Given the description of an element on the screen output the (x, y) to click on. 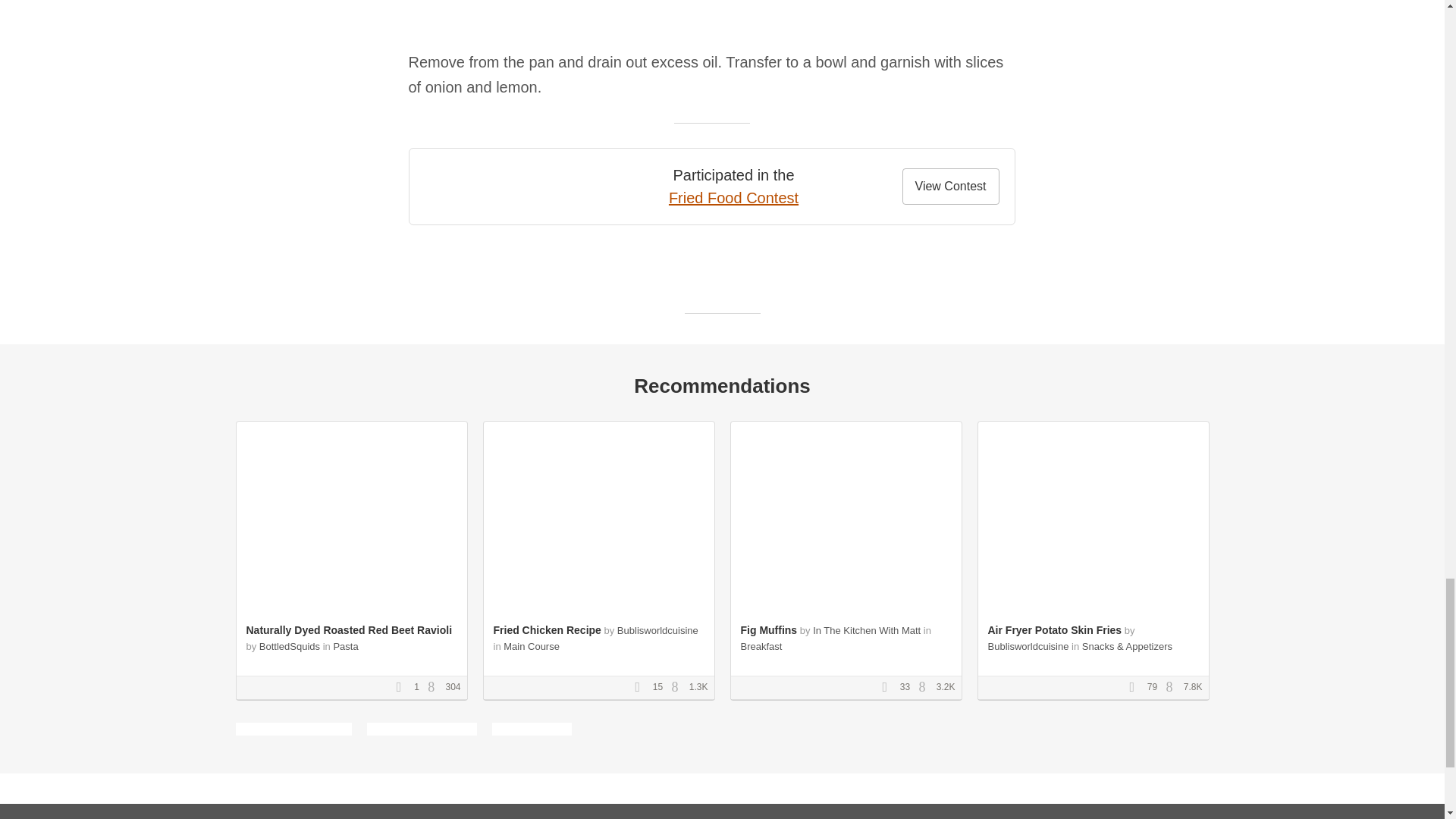
Naturally Dyed Roasted Red Beet Ravioli (348, 630)
BottledSquids (289, 645)
Favorites Count (889, 687)
Views Count (925, 687)
Views Count (1173, 687)
In The Kitchen With Matt (866, 630)
Pasta (345, 645)
Breakfast (760, 645)
Main Course (531, 645)
Favorites Count (404, 687)
Bublisworldcuisine (657, 630)
Fried Chicken Recipe (546, 630)
Fried Food Contest (732, 197)
Fig Muffins (767, 630)
Favorites Count (641, 687)
